Given the description of an element on the screen output the (x, y) to click on. 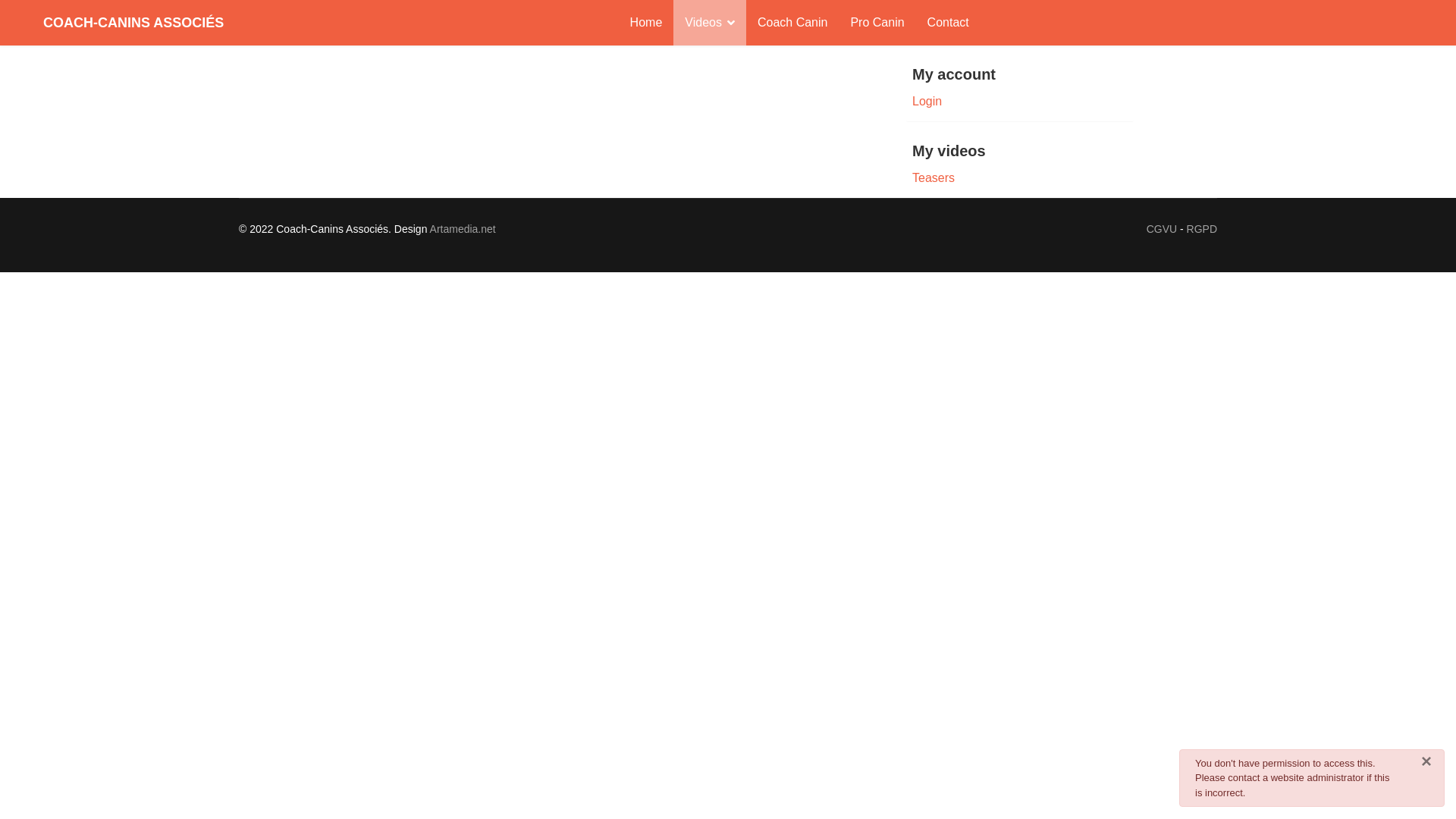
Coach Canin Element type: text (792, 22)
Artamedia.net Element type: text (462, 228)
RGPD Element type: text (1201, 228)
Videos Element type: text (709, 22)
CGVU Element type: text (1161, 228)
Teasers Element type: text (1019, 177)
Pro Canin Element type: text (876, 22)
Contact Element type: text (948, 22)
Home Element type: text (646, 22)
Login Element type: text (1019, 101)
